Given the description of an element on the screen output the (x, y) to click on. 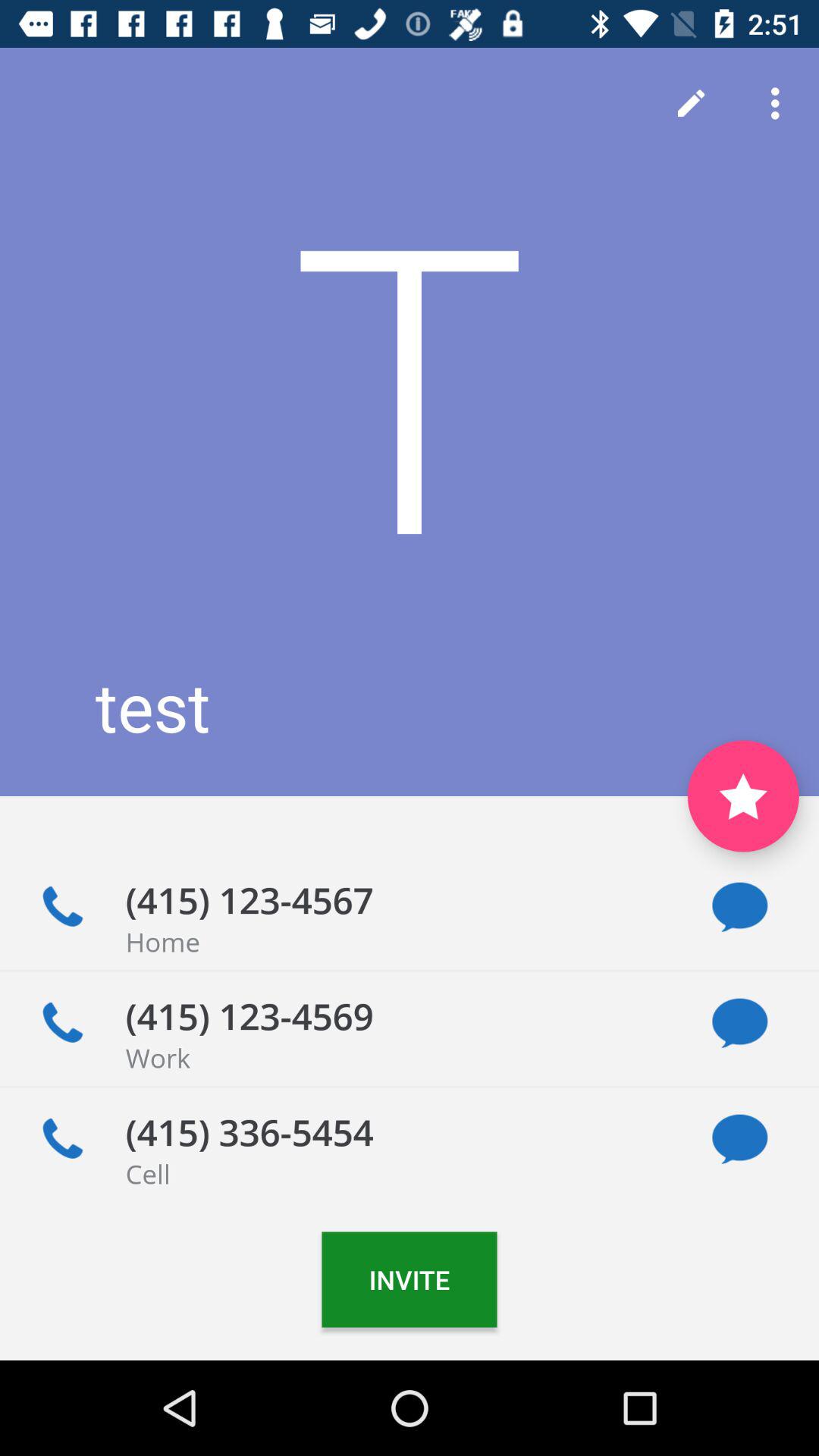
shows massage icon (739, 907)
